Given the description of an element on the screen output the (x, y) to click on. 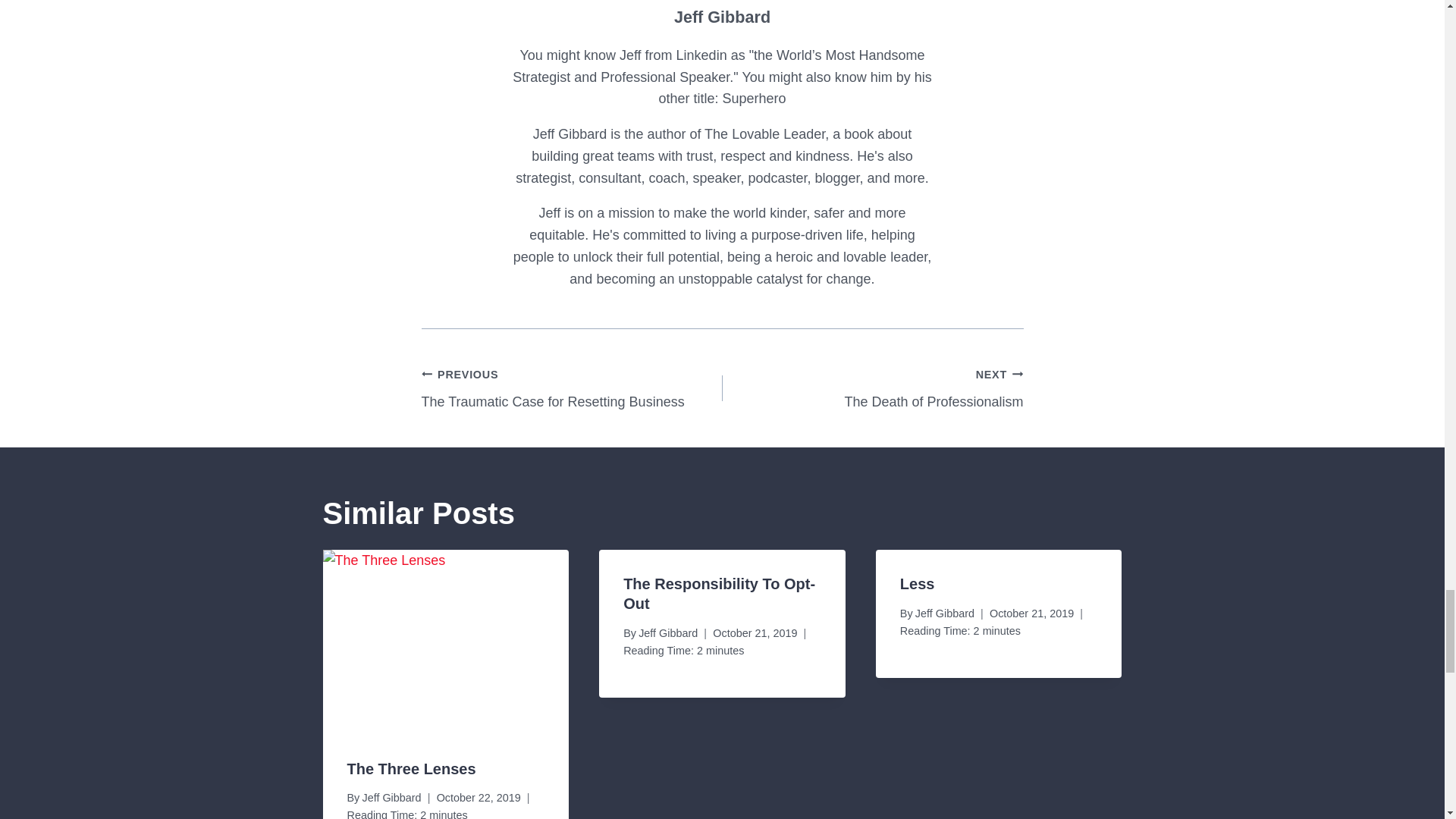
Posts by Jeff Gibbard (722, 16)
The Three Lenses (411, 768)
Jeff Gibbard (944, 613)
Less (916, 583)
Jeff Gibbard (572, 388)
Jeff Gibbard (668, 633)
The Responsibility To Opt-Out (390, 797)
Jeff Gibbard (719, 593)
